Given the description of an element on the screen output the (x, y) to click on. 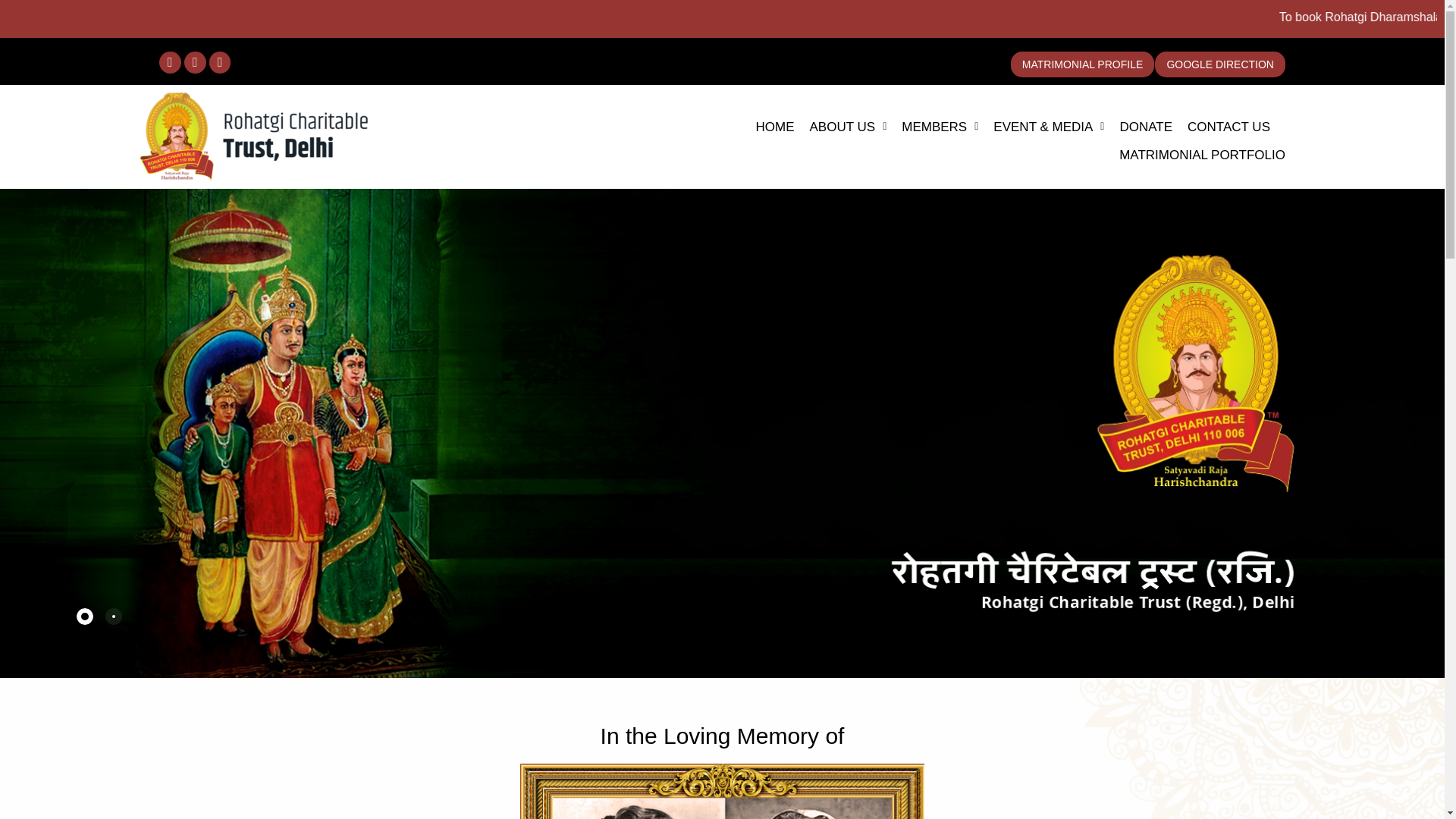
Facebook (169, 62)
ABOUT US (847, 126)
HOME (774, 126)
GOOGLE DIRECTION (1219, 63)
Instagram (195, 62)
MATRIMONIAL PROFILE (1082, 63)
Youtube (220, 62)
MEMBERS (939, 126)
